Given the description of an element on the screen output the (x, y) to click on. 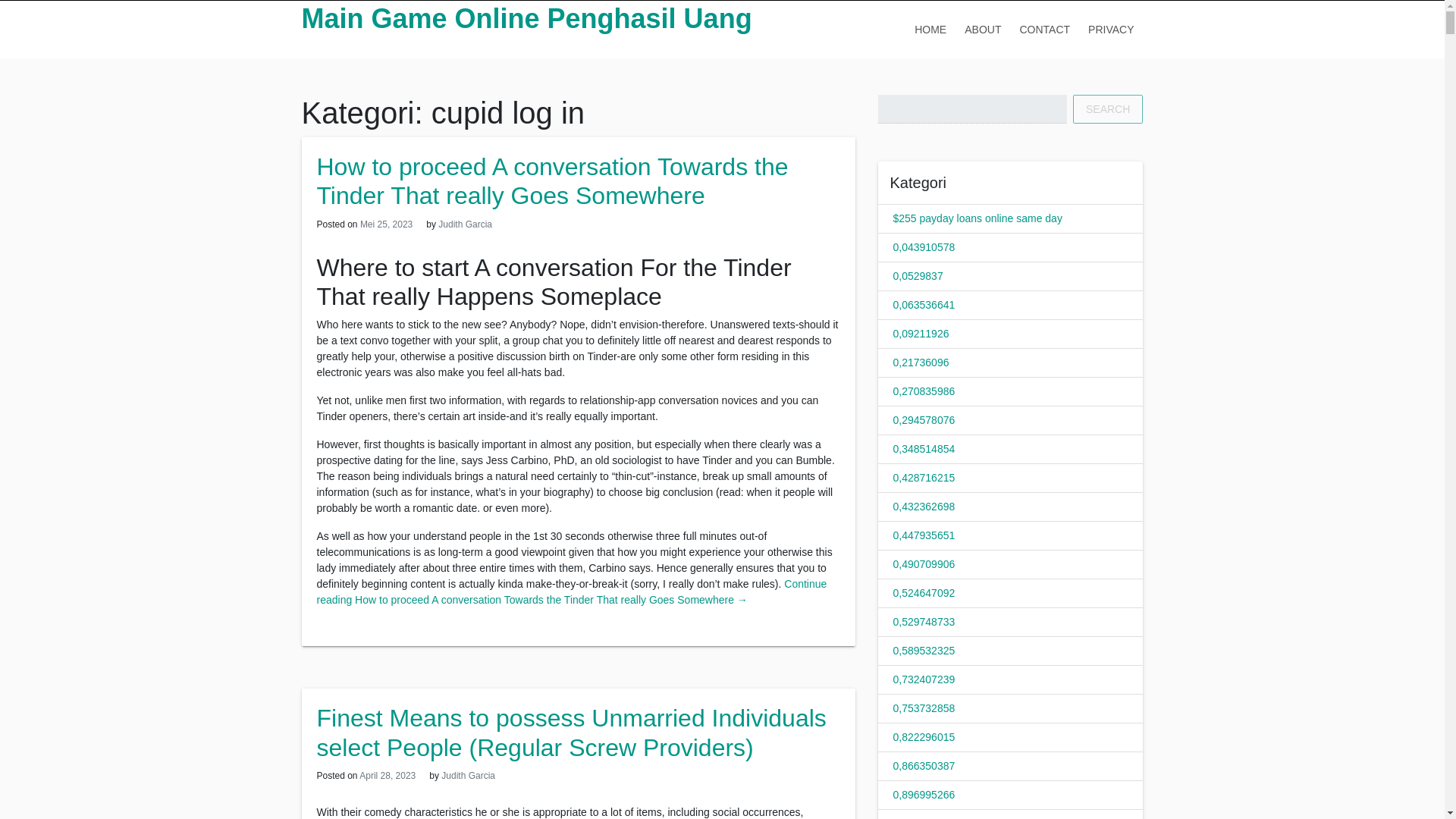
0,934001603 (924, 818)
0,043910578 (924, 246)
0,529748733 (924, 621)
Main Game Online Penghasil Uang (526, 18)
0,294578076 (924, 419)
0,063536641 (924, 304)
0,524647092 (924, 592)
ABOUT (982, 29)
CONTACT (1044, 29)
